Given the description of an element on the screen output the (x, y) to click on. 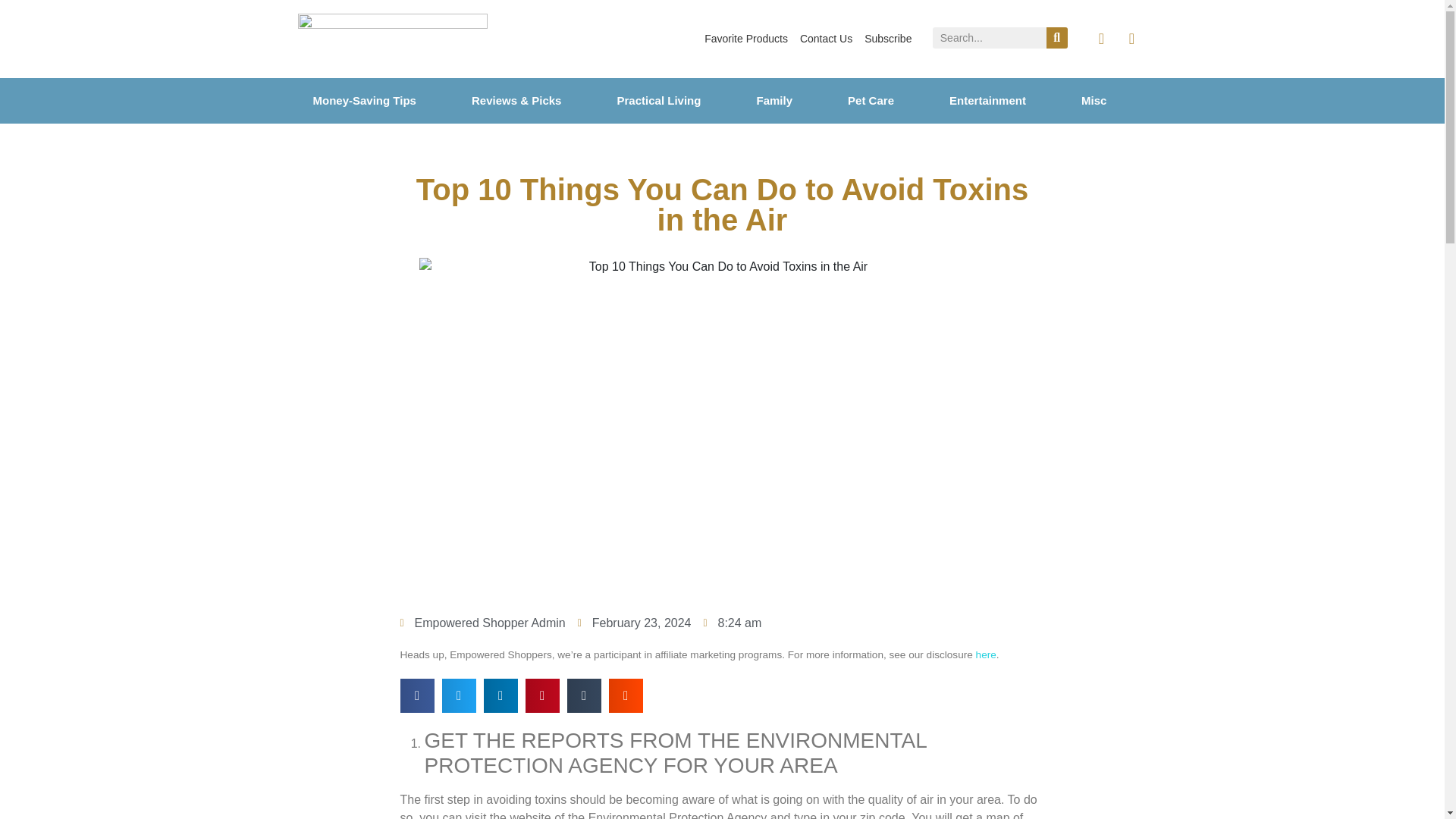
Entertainment (1008, 100)
Favorite Products (745, 38)
Misc (1114, 100)
Practical Living (679, 100)
Pet Care (891, 100)
Contact Us (826, 38)
Family (794, 100)
Money-Saving Tips (384, 100)
Subscribe (888, 38)
